Given the description of an element on the screen output the (x, y) to click on. 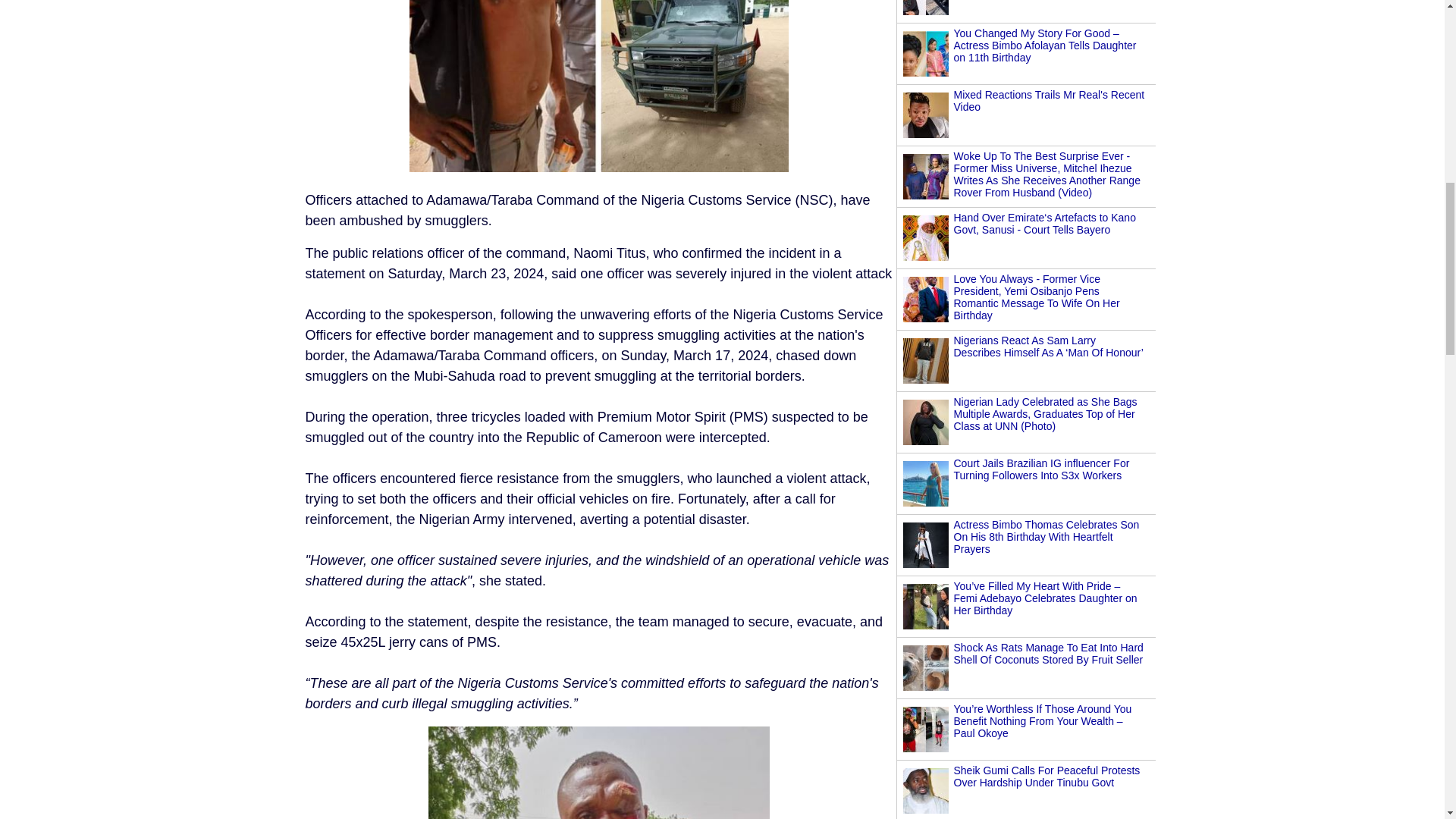
Mixed Reactions Trails Mr Real's Recent Video (1048, 100)
